Given the description of an element on the screen output the (x, y) to click on. 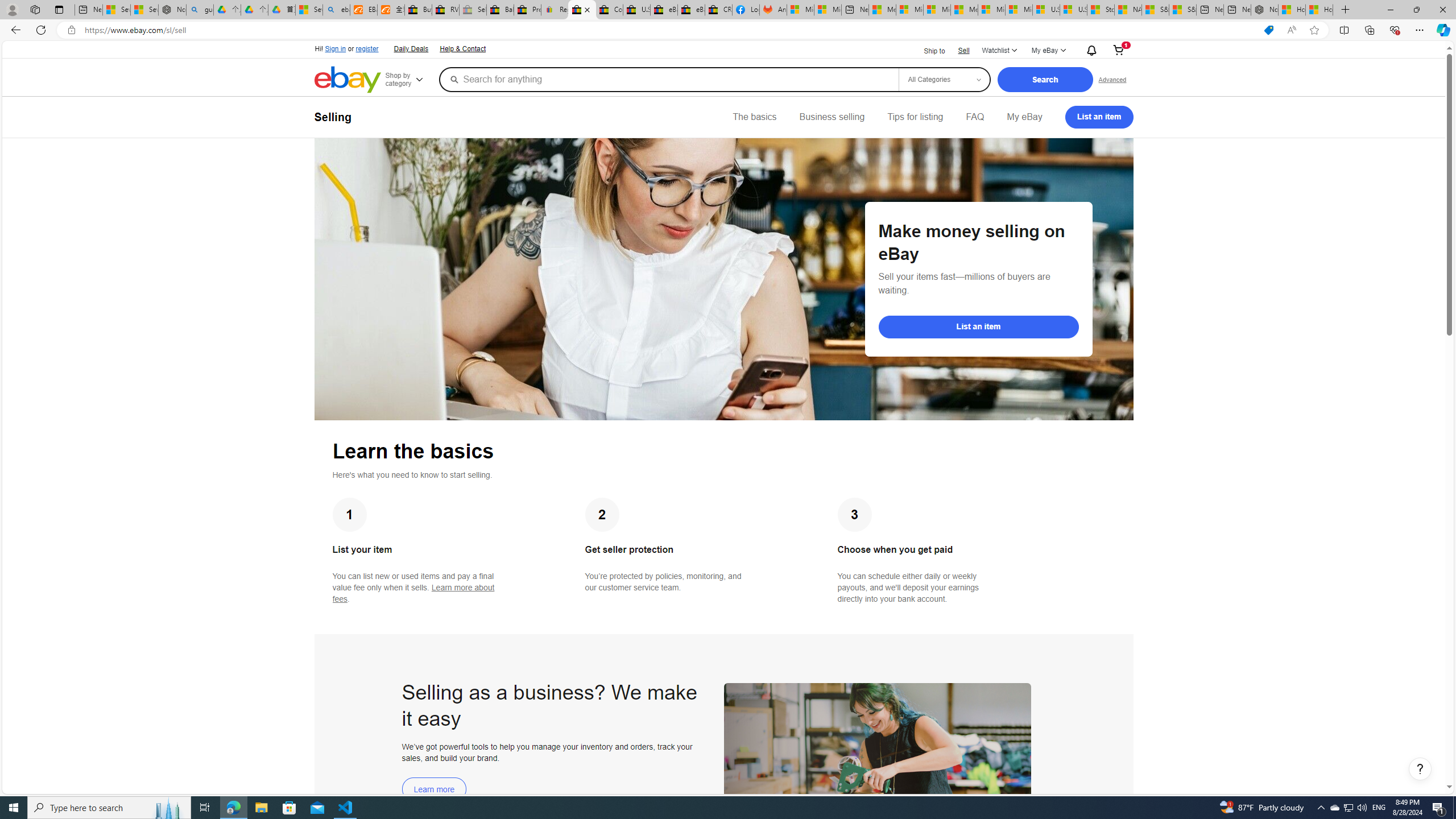
The basics (754, 116)
WatchlistExpand Watch List (998, 50)
Help & Contact (462, 49)
List an item (1099, 116)
